Given the description of an element on the screen output the (x, y) to click on. 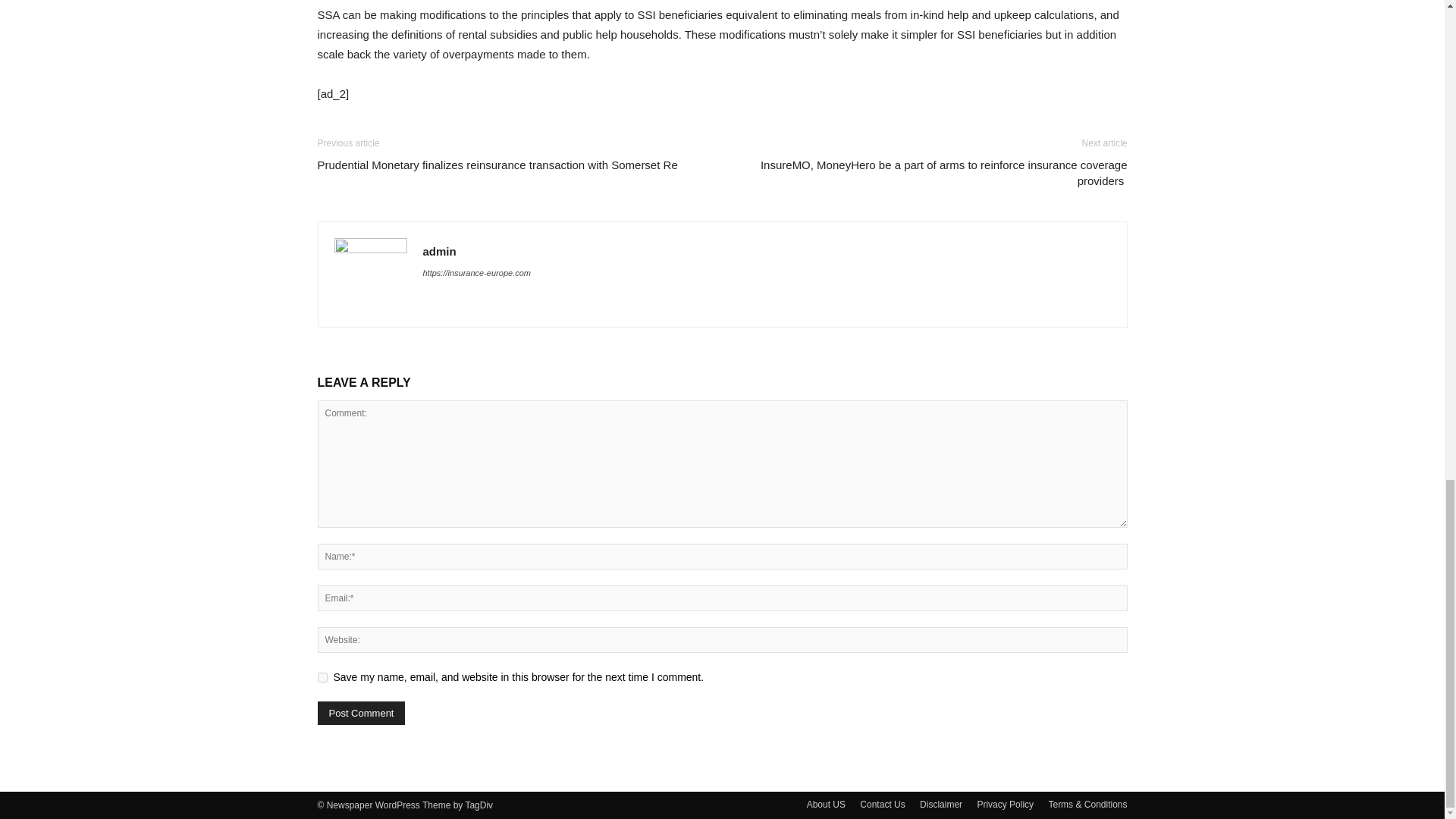
Post Comment (360, 712)
Post Comment (360, 712)
admin (440, 250)
About US (825, 804)
Contact Us (882, 804)
yes (321, 677)
